Given the description of an element on the screen output the (x, y) to click on. 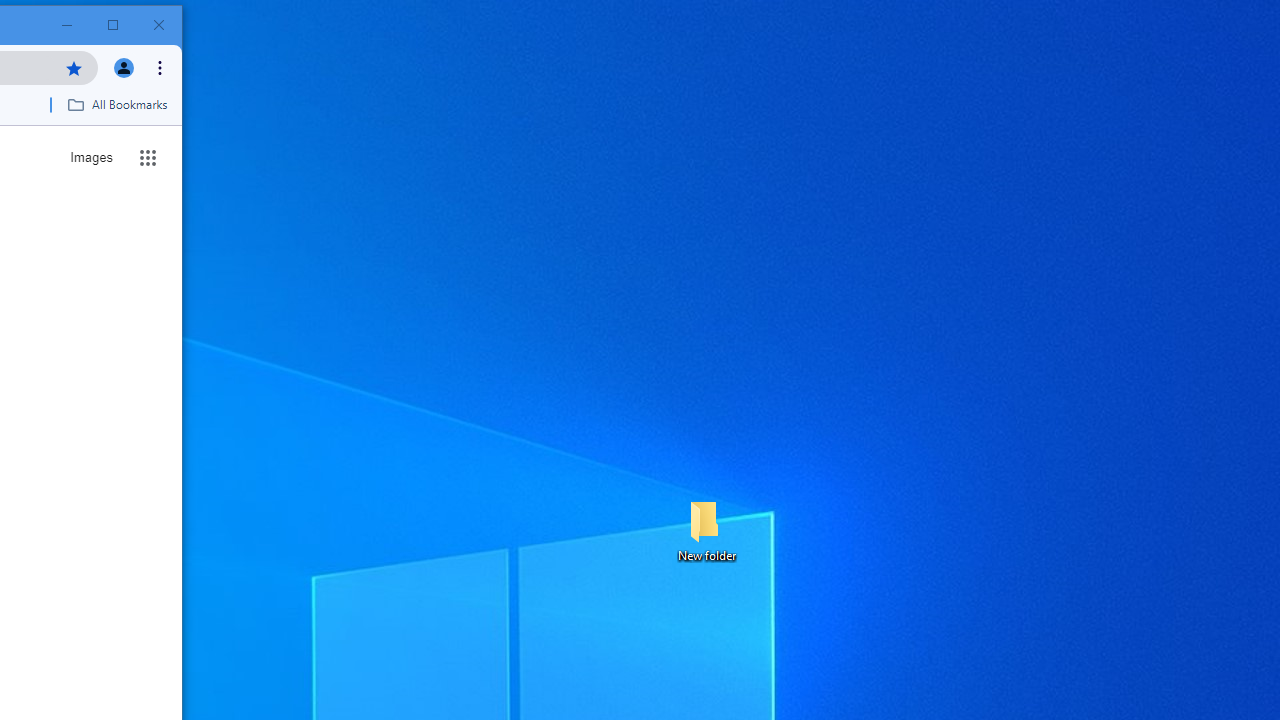
New folder (706, 530)
